Given the description of an element on the screen output the (x, y) to click on. 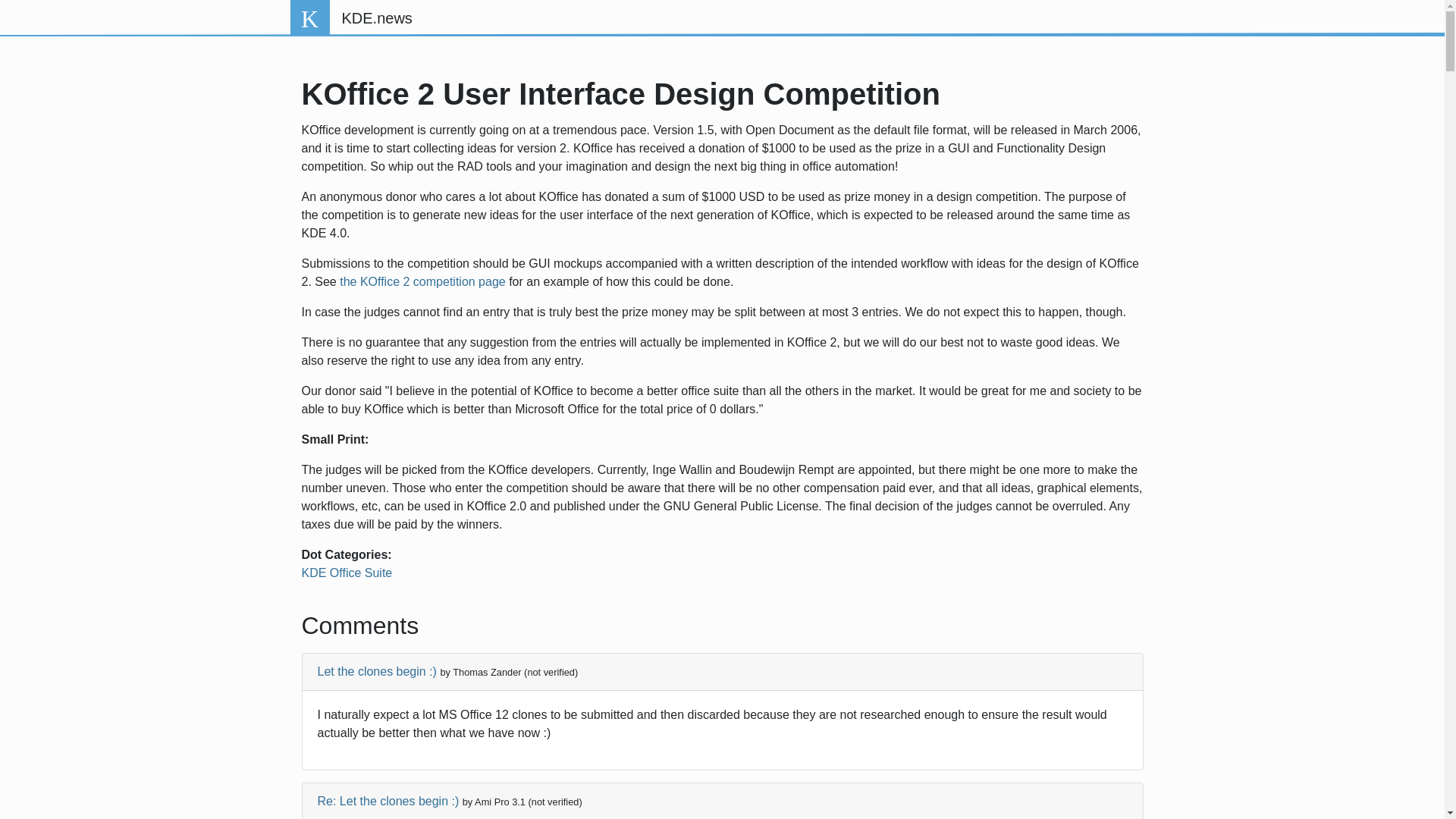
Home (376, 18)
Home (309, 18)
the KOffice 2 competition page (422, 281)
KDE Office Suite (347, 572)
